Given the description of an element on the screen output the (x, y) to click on. 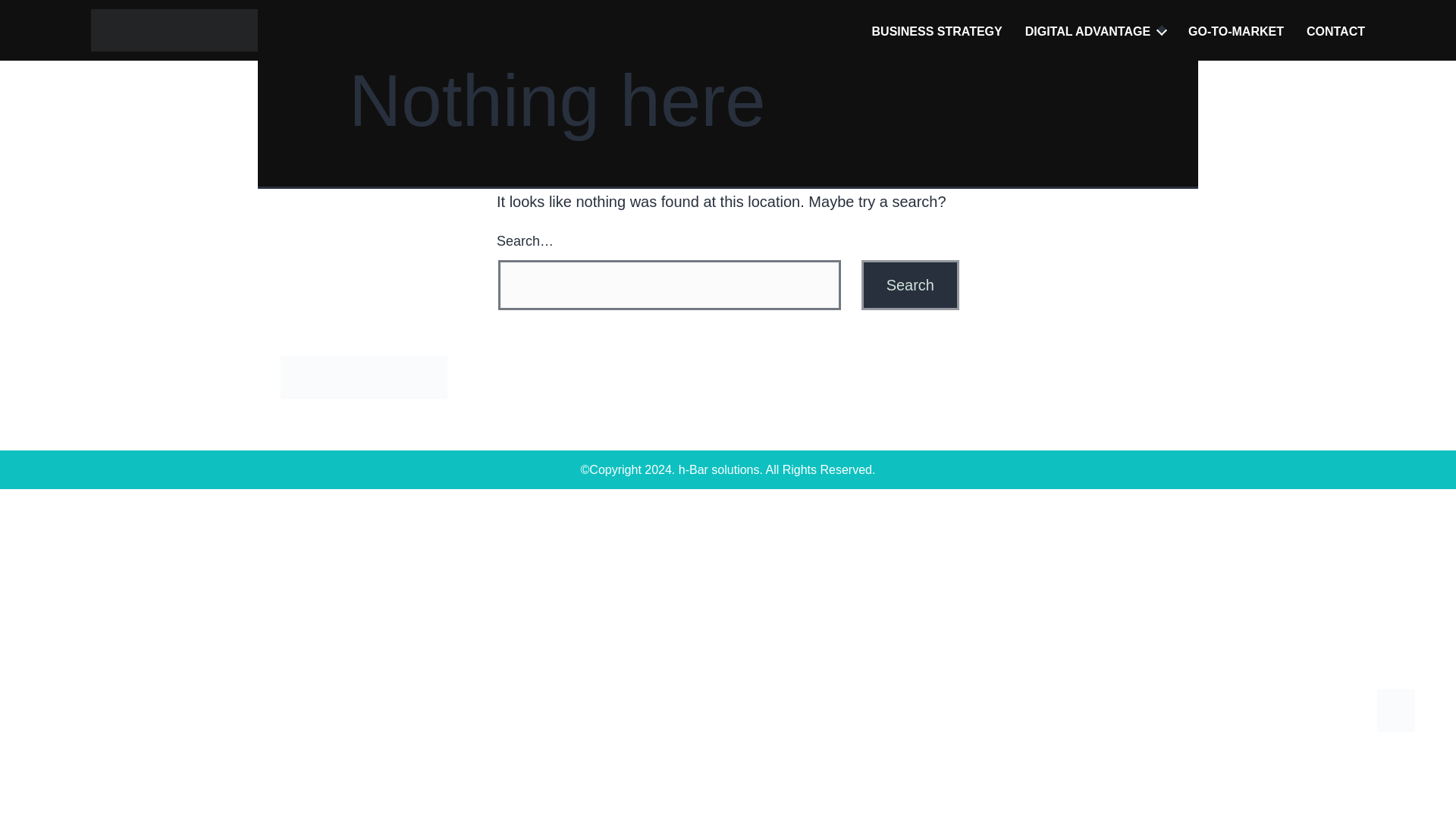
DIGITAL ADVANTAGE (1087, 31)
Search (910, 285)
GO-TO-MARKET (1236, 31)
Search (910, 285)
Search (910, 285)
BUSINESS STRATEGY (937, 31)
CONTACT (1335, 31)
